Given the description of an element on the screen output the (x, y) to click on. 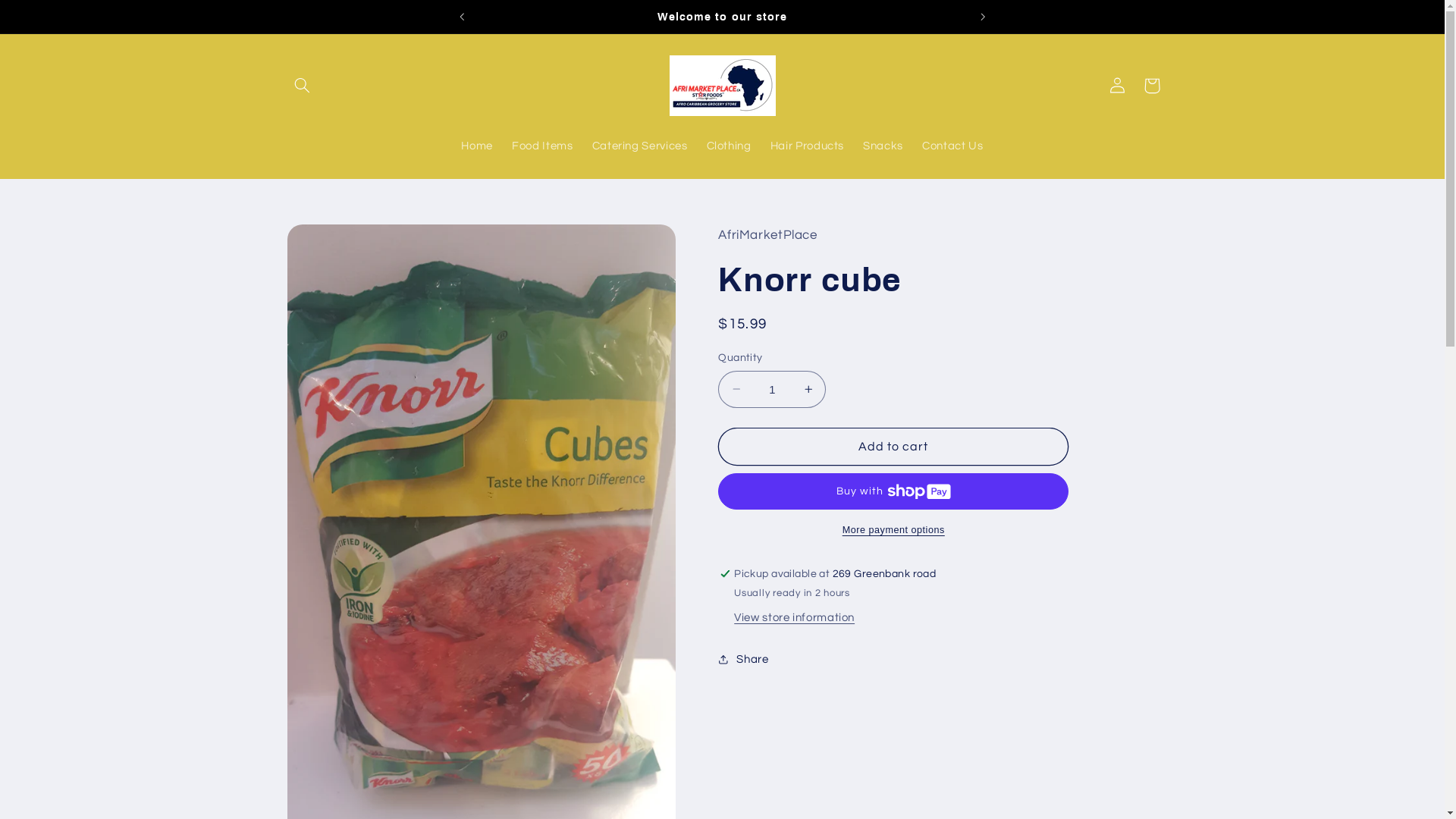
Contact Us Element type: text (953, 146)
More payment options Element type: text (893, 530)
https://www.afrimarketplace.ca/products/knorr-cube Element type: text (813, 719)
Increase quantity for Knorr cube Element type: text (807, 388)
Hair Products Element type: text (806, 146)
Home Element type: text (476, 146)
Cart Element type: text (1151, 85)
Decrease quantity for Knorr cube Element type: text (735, 388)
Clothing Element type: text (728, 146)
Food Items Element type: text (542, 146)
Add to cart Element type: text (893, 445)
Log in Element type: text (1116, 85)
View store information Element type: text (794, 617)
Skip to product information Element type: text (331, 241)
Catering Services Element type: text (639, 146)
Snacks Element type: text (883, 146)
